Given the description of an element on the screen output the (x, y) to click on. 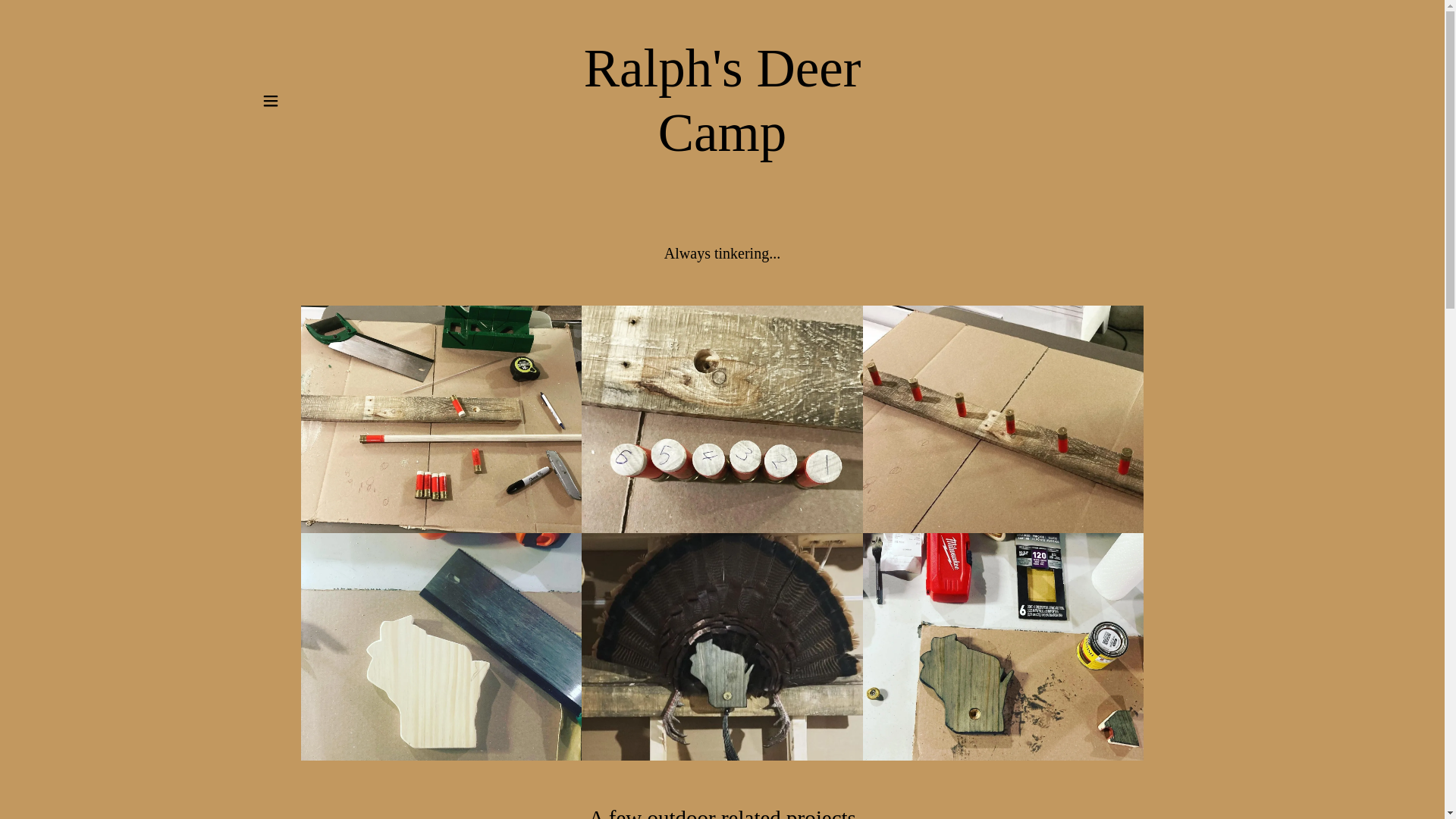
Ralph's Deer Camp (721, 145)
Ralph's Deer Camp (721, 145)
